Given the description of an element on the screen output the (x, y) to click on. 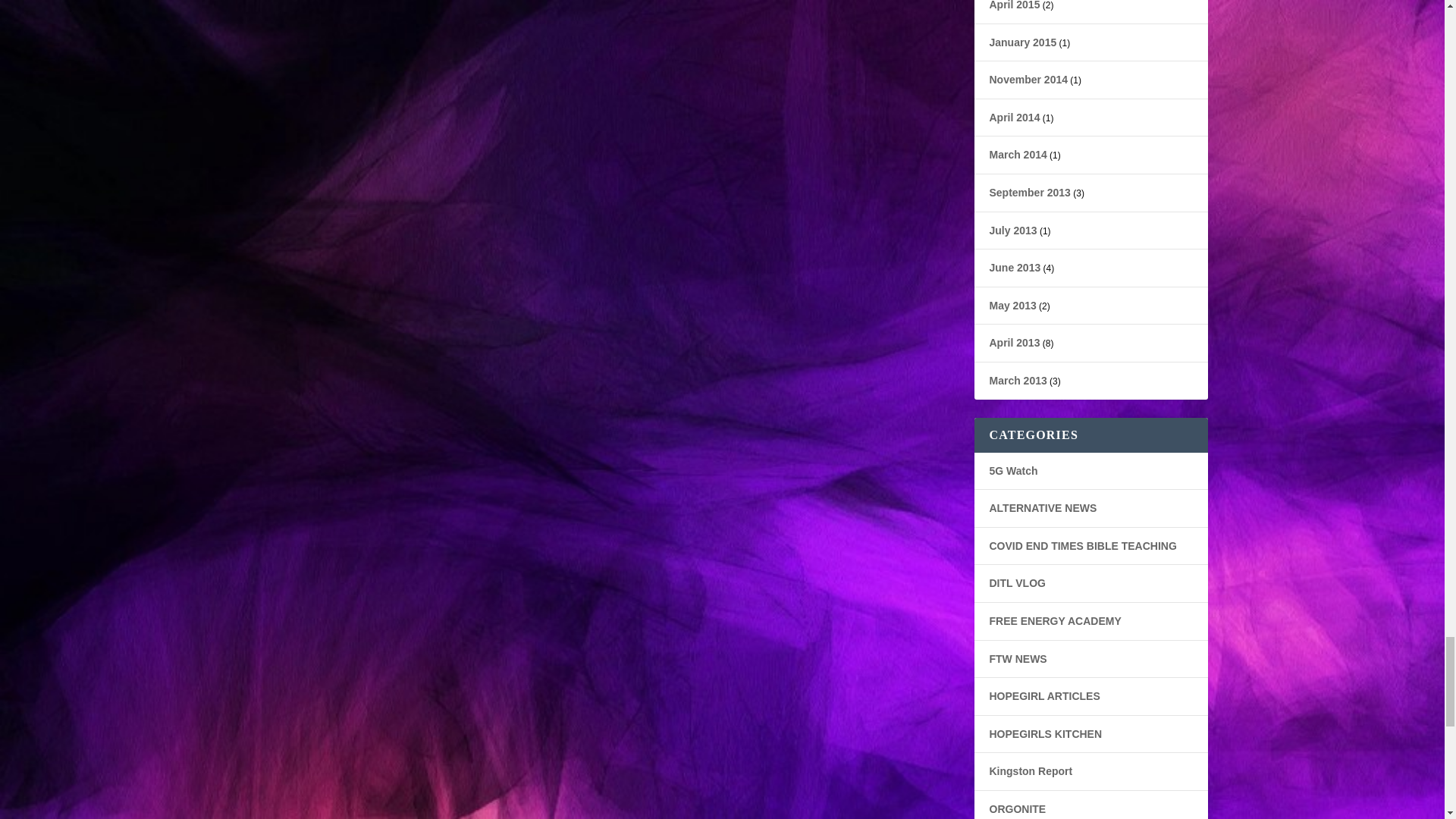
Latest updates from the Fix the World Organization (1017, 658)
